Given the description of an element on the screen output the (x, y) to click on. 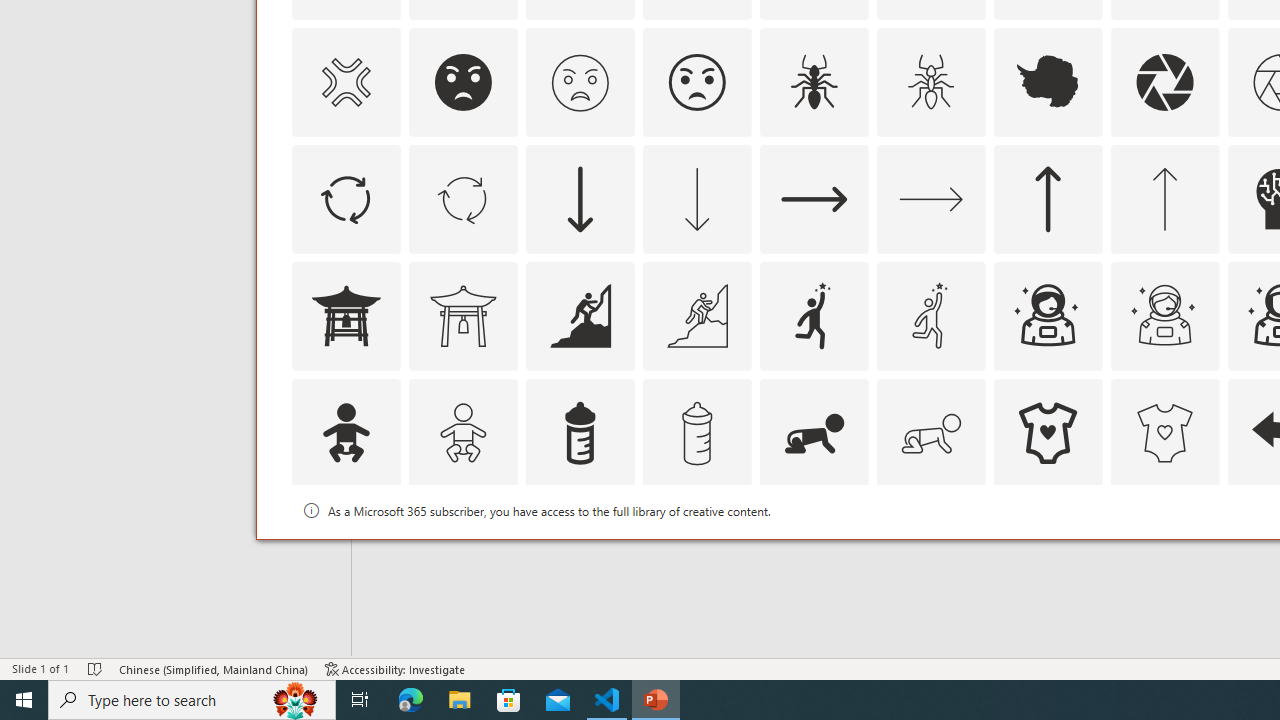
AutomationID: Icons_AsianTemple1_M (463, 316)
AutomationID: Icons_AsianTemple1 (345, 316)
